Given the description of an element on the screen output the (x, y) to click on. 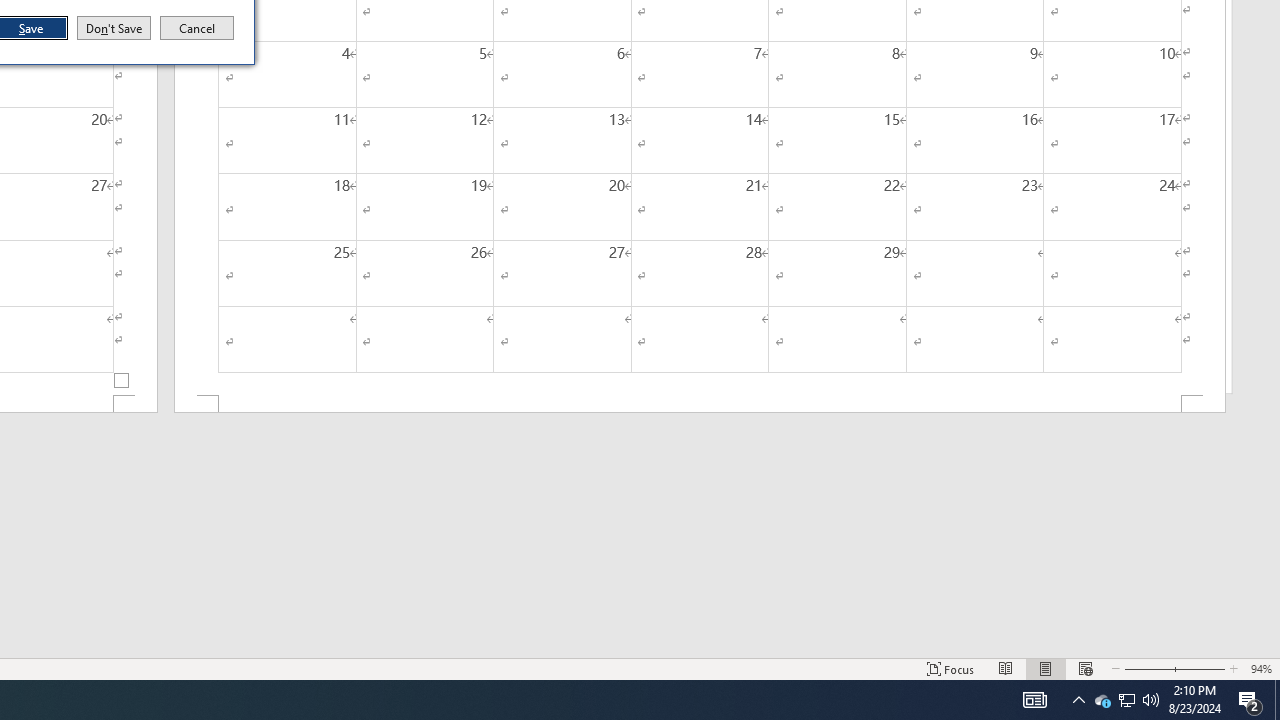
Zoom Out (1147, 668)
Action Center, 2 new notifications (1250, 699)
User Promoted Notification Area (1126, 699)
Print Layout (1046, 668)
Cancel (197, 27)
Show desktop (1277, 699)
Notification Chevron (1078, 699)
Q2790: 100% (1151, 699)
Footer -Section 2- (700, 404)
Don't Save (113, 27)
Focus  (951, 668)
